Given the description of an element on the screen output the (x, y) to click on. 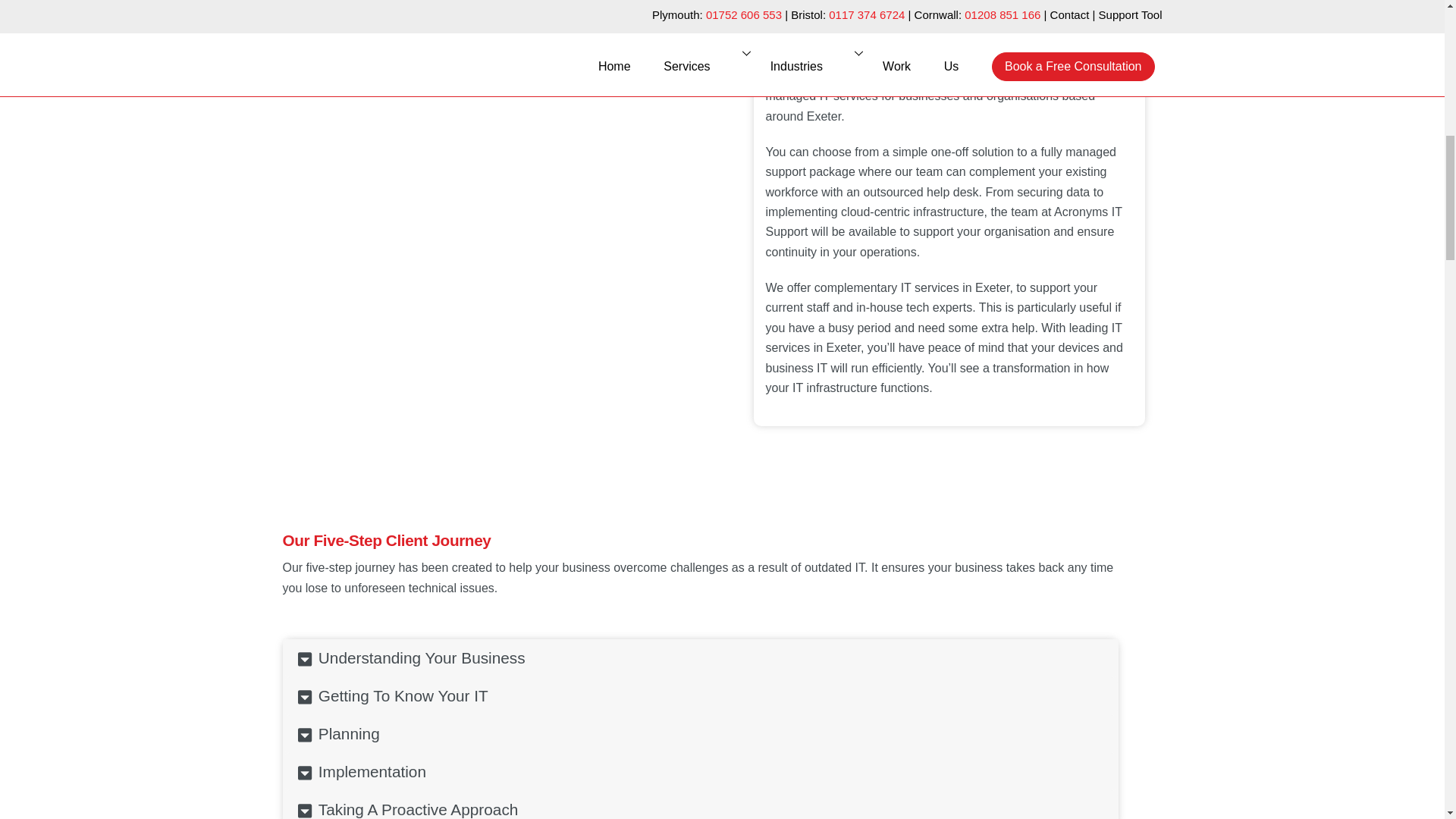
Planning (338, 733)
Implementation (361, 771)
Getting To Know Your IT (392, 695)
IT Services Exeter (395, 211)
Understanding Your Business (411, 658)
Taking A Proactive Approach (408, 804)
